Given the description of an element on the screen output the (x, y) to click on. 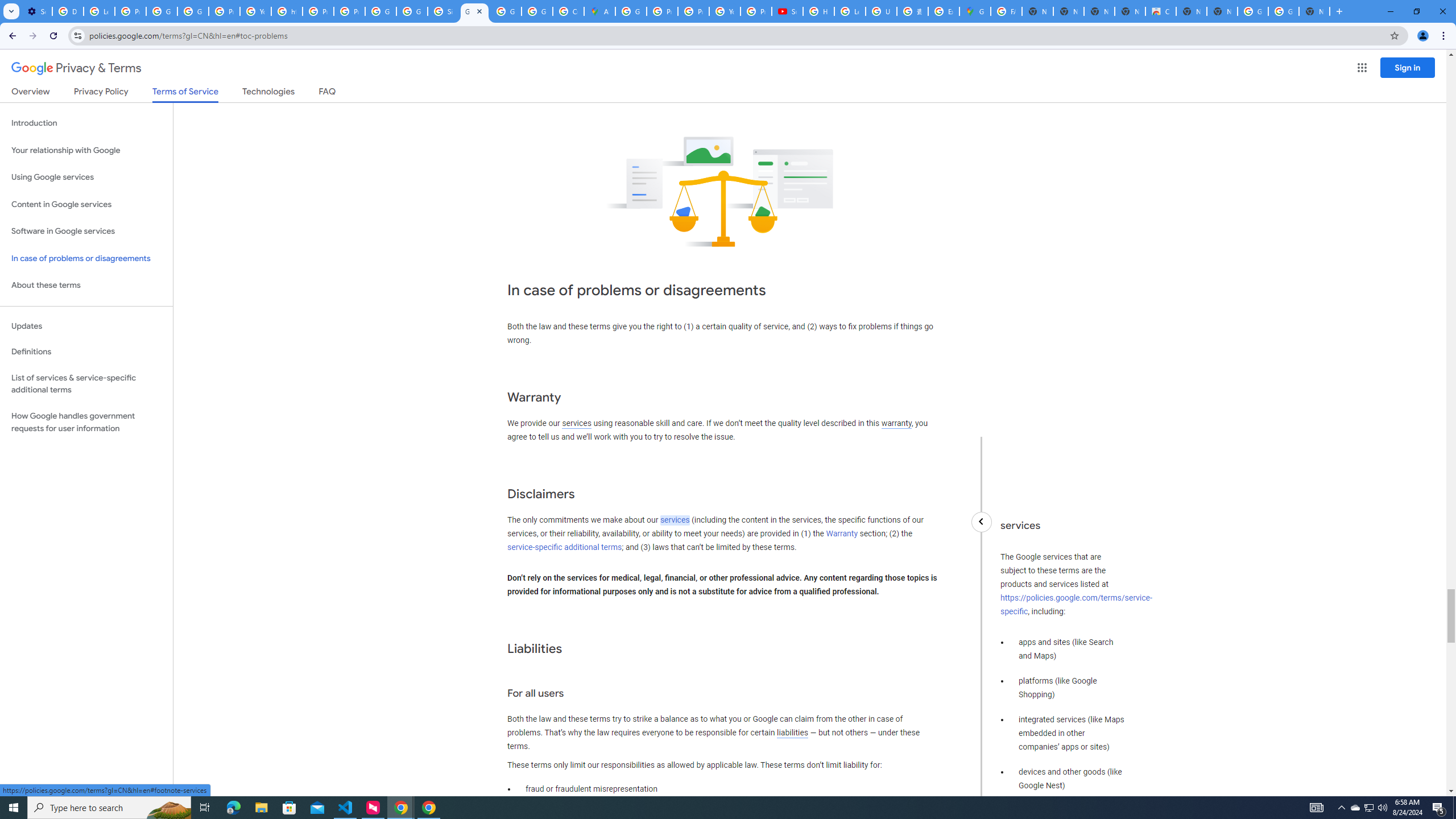
Sign in - Google Accounts (443, 11)
New Tab (1314, 11)
Definitions (86, 352)
Using Google services (86, 176)
Privacy Help Center - Policies Help (318, 11)
How Chrome protects your passwords - Google Chrome Help (818, 11)
